Given the description of an element on the screen output the (x, y) to click on. 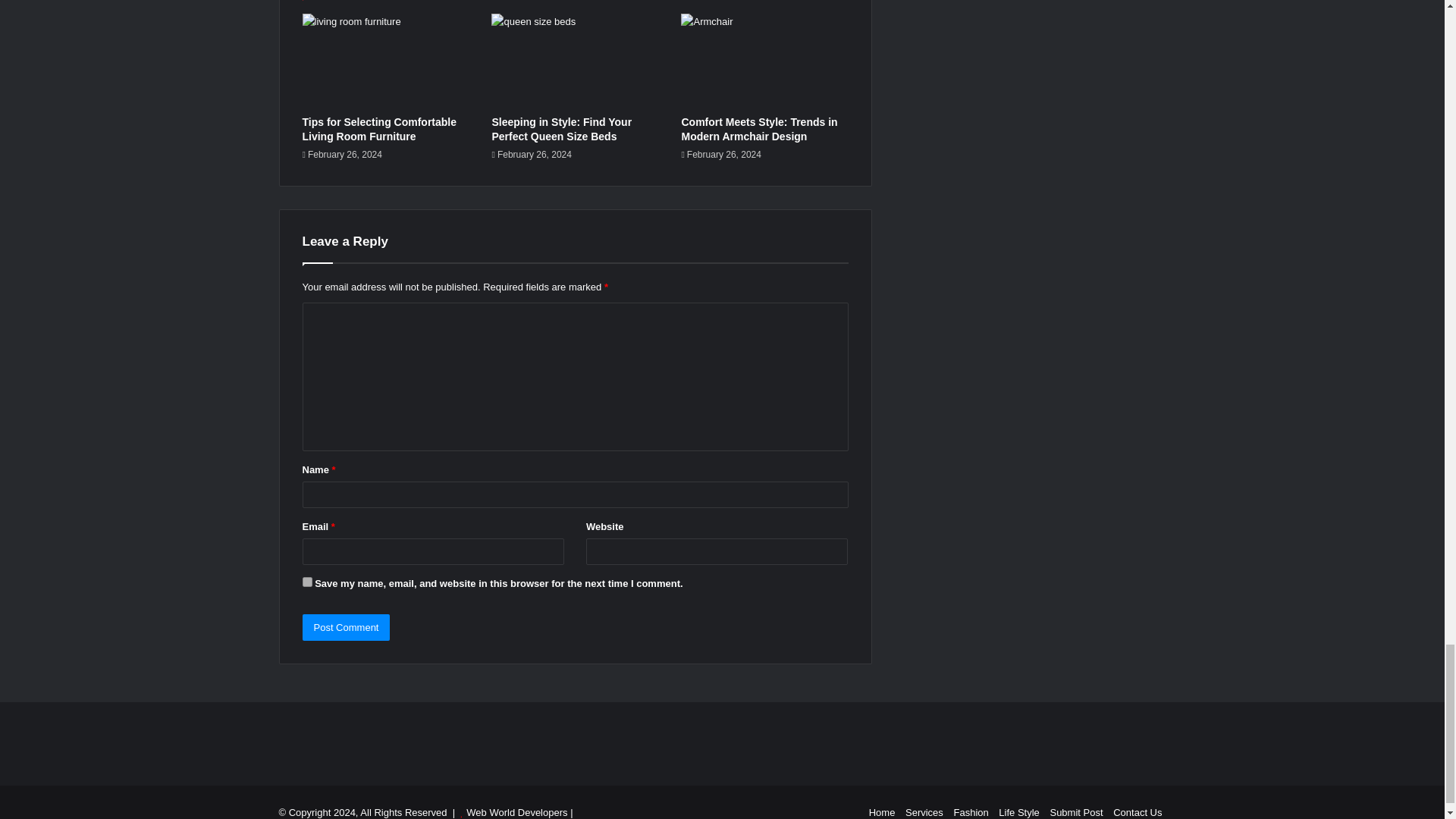
Post Comment (345, 627)
yes (306, 582)
